Given the description of an element on the screen output the (x, y) to click on. 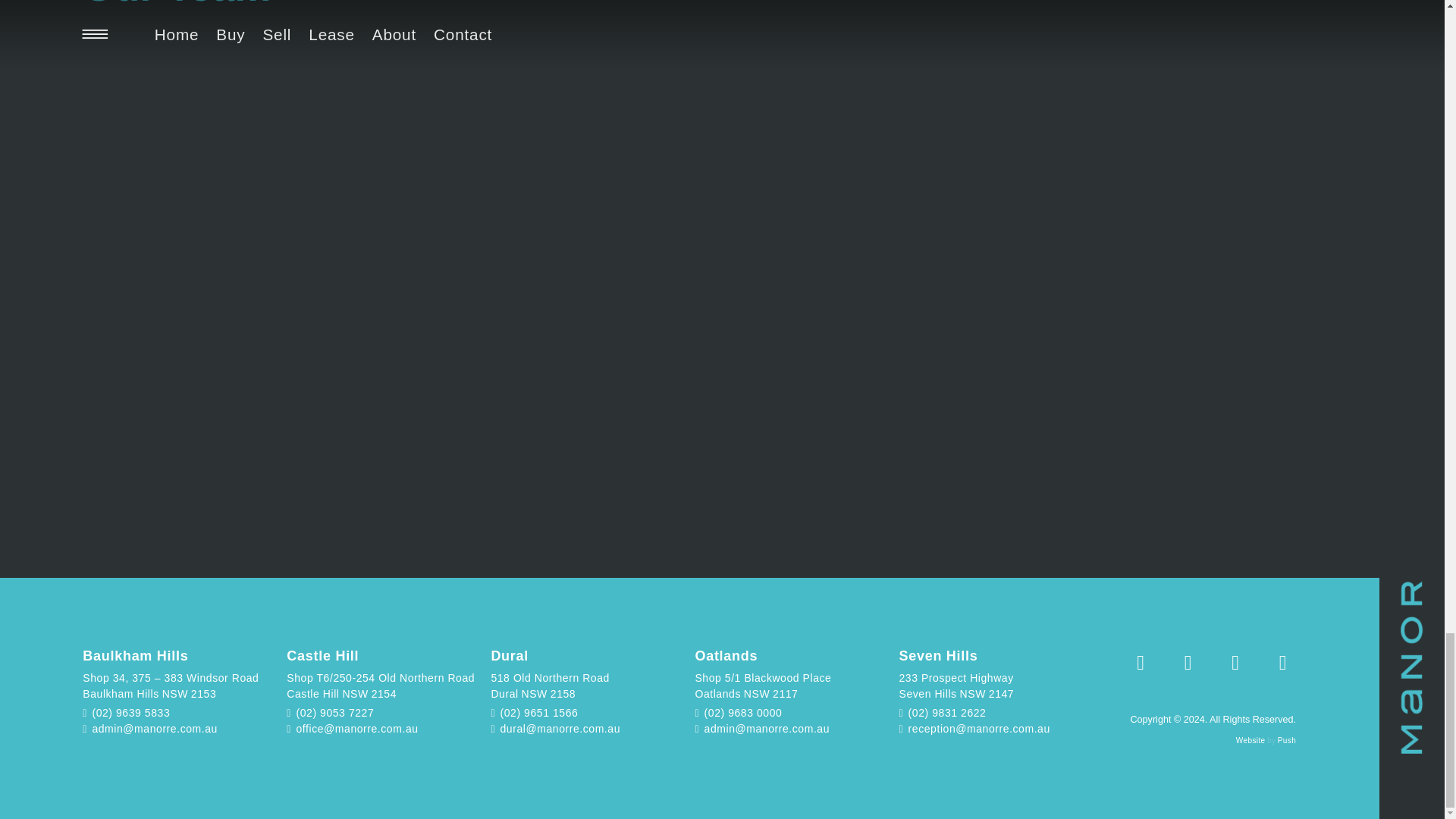
Website (1250, 740)
Push (1286, 740)
